Given the description of an element on the screen output the (x, y) to click on. 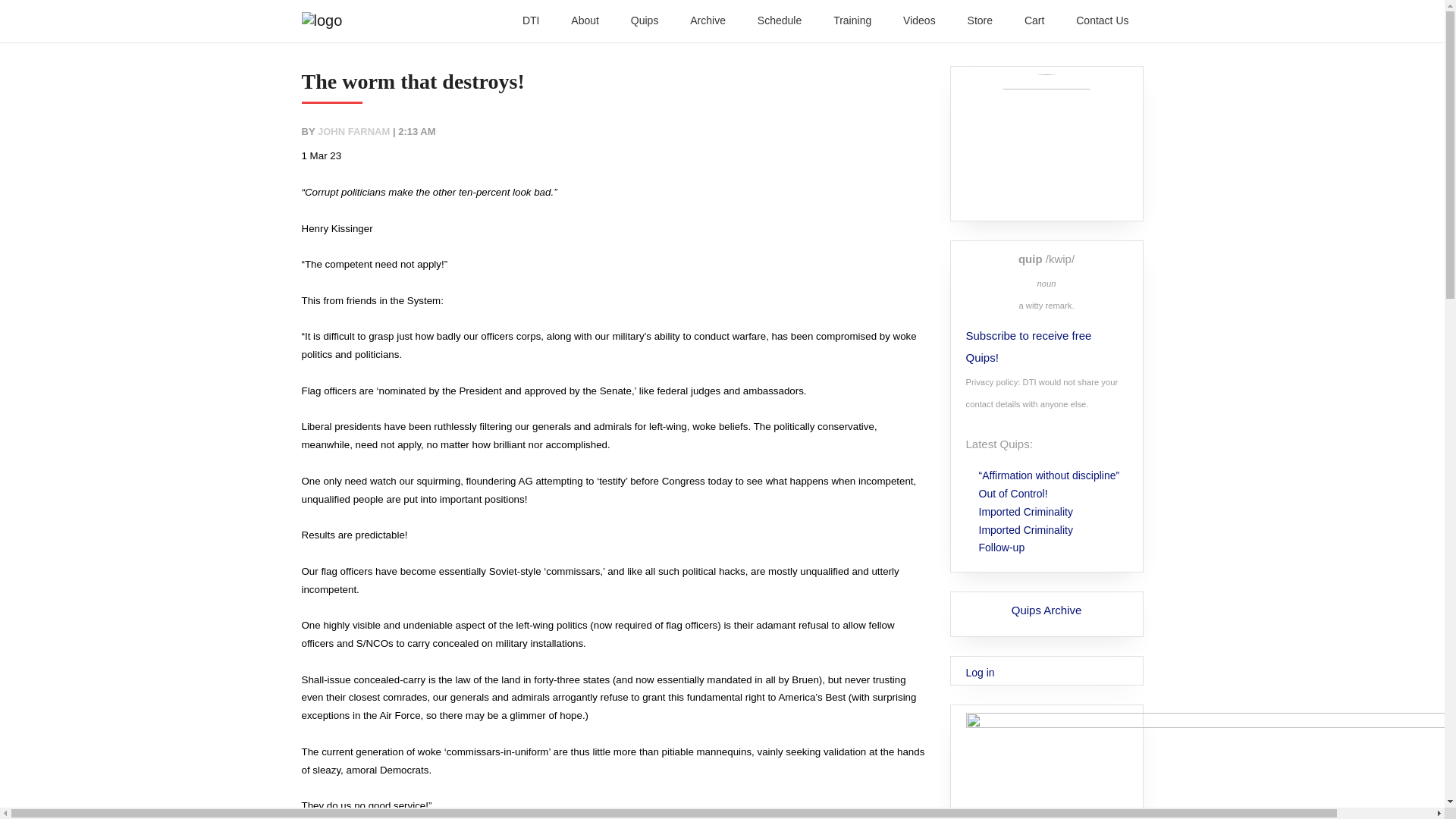
Quips (644, 20)
Archive (708, 20)
Out of Control! (1013, 493)
Store (979, 20)
DTI (530, 20)
Schedule (779, 20)
About (585, 20)
Imported Criminality (1026, 530)
Subscribe to receive free Quips! (1026, 346)
